Given the description of an element on the screen output the (x, y) to click on. 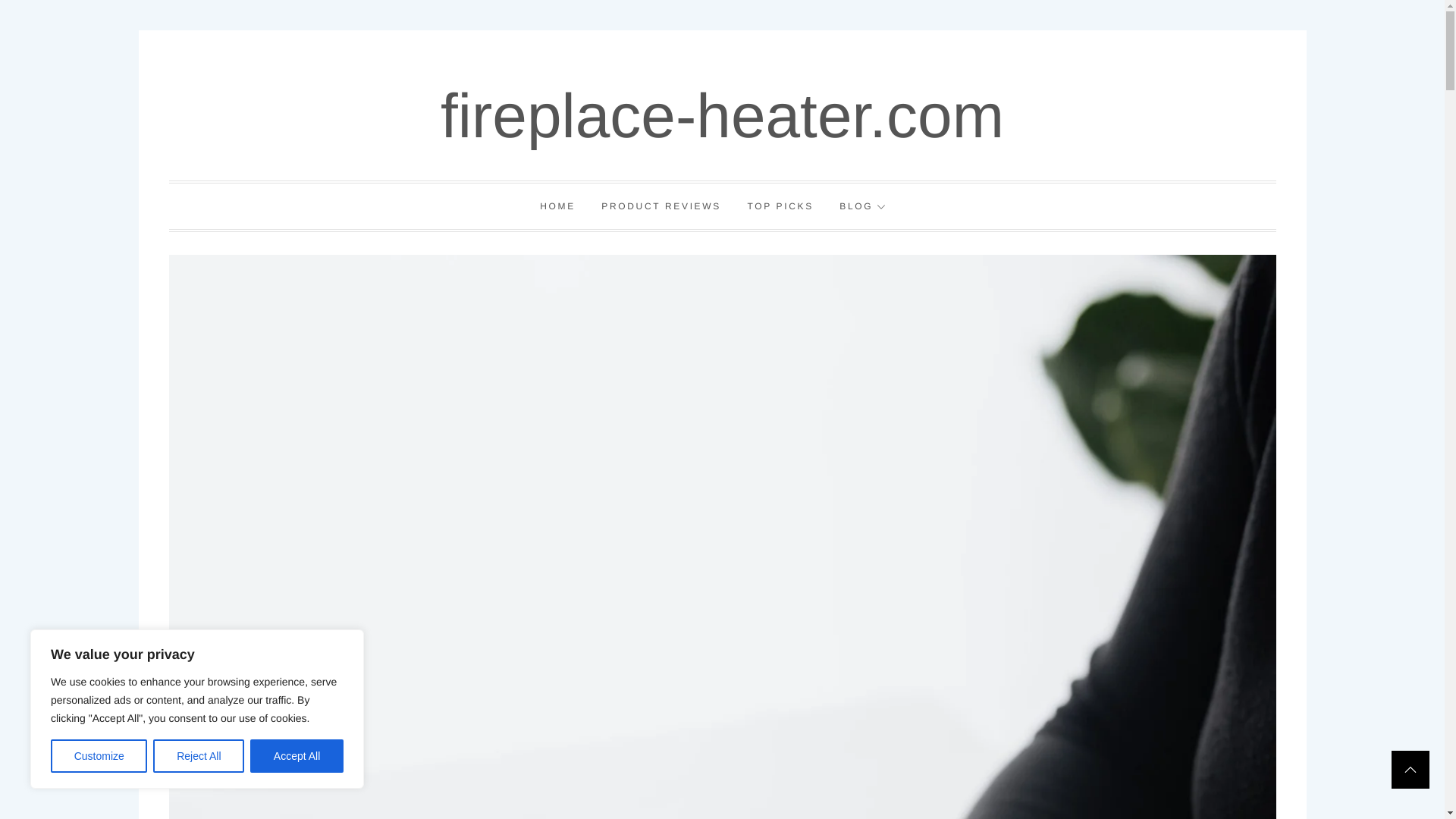
PRODUCT REVIEWS (660, 206)
BLOG (862, 206)
Reject All (198, 756)
TOP PICKS (779, 206)
Customize (98, 756)
fireplace-heater.com (722, 115)
Accept All (296, 756)
